Given the description of an element on the screen output the (x, y) to click on. 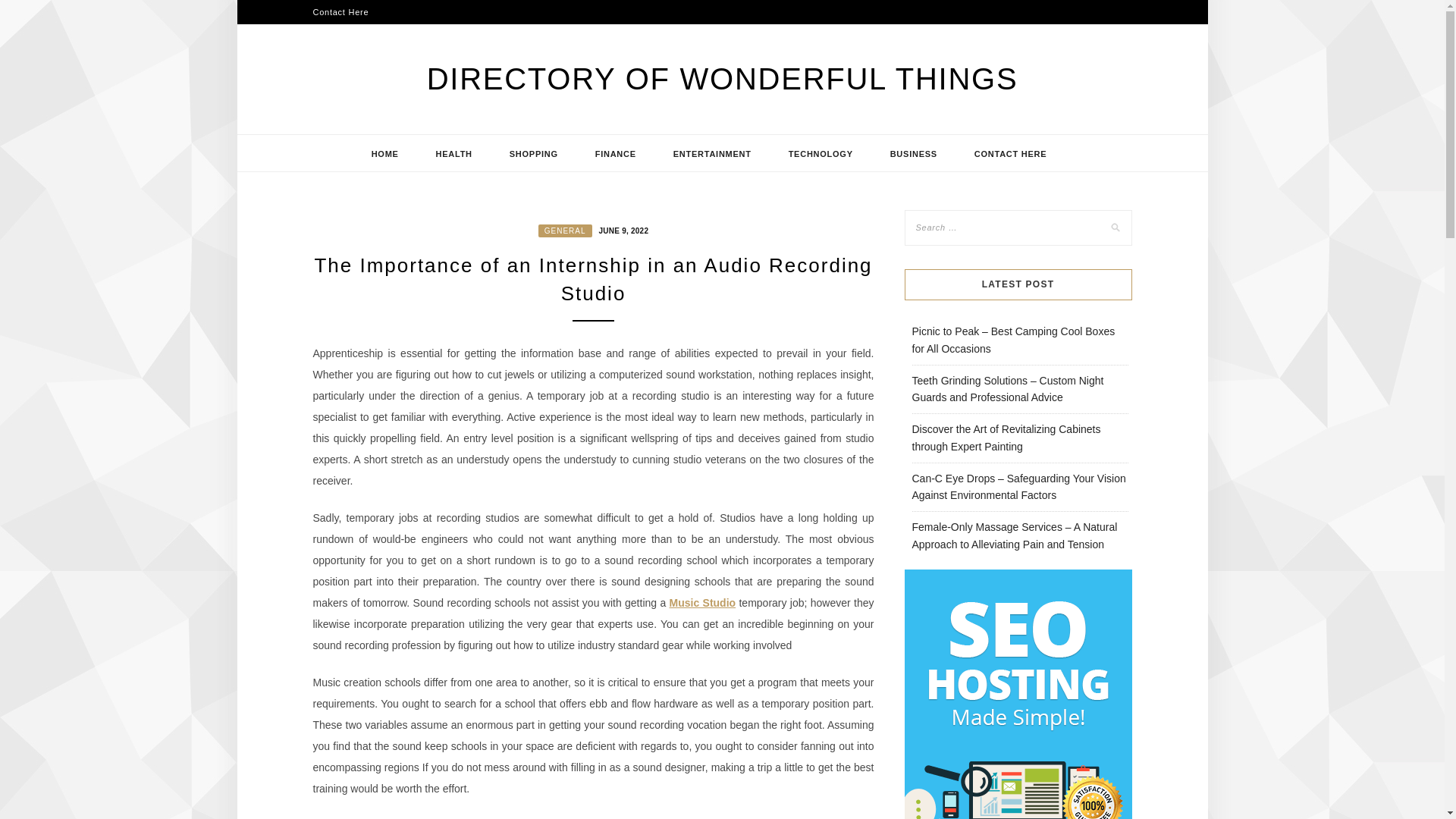
Music Studio (702, 603)
HEALTH (454, 153)
HOME (385, 153)
GENERAL (565, 230)
CONTACT HERE (1011, 153)
BUSINESS (913, 153)
ENTERTAINMENT (712, 153)
Search (28, 11)
Contact Here (340, 12)
SHOPPING (533, 153)
DIRECTORY OF WONDERFUL THINGS (721, 78)
FINANCE (615, 153)
TECHNOLOGY (820, 153)
JUNE 9, 2022 (620, 229)
